Given the description of an element on the screen output the (x, y) to click on. 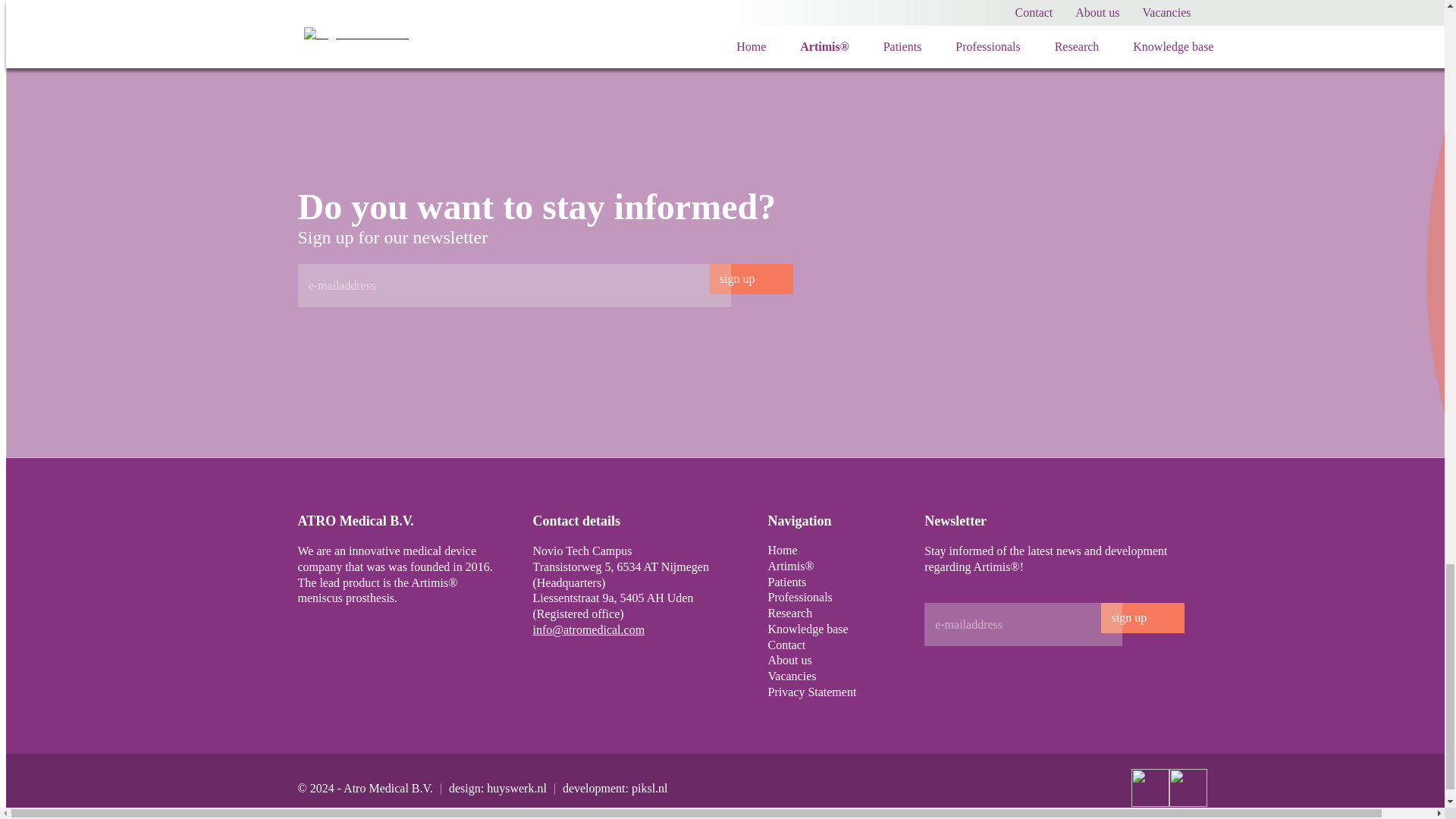
Contact (786, 645)
huyswerk.nl (516, 788)
sign up (751, 277)
sign up (1142, 617)
Professionals (799, 597)
Privacy Statement (811, 692)
Knowledge base (807, 629)
Patients (786, 581)
Research (789, 613)
piksl.nl (649, 788)
